Given the description of an element on the screen output the (x, y) to click on. 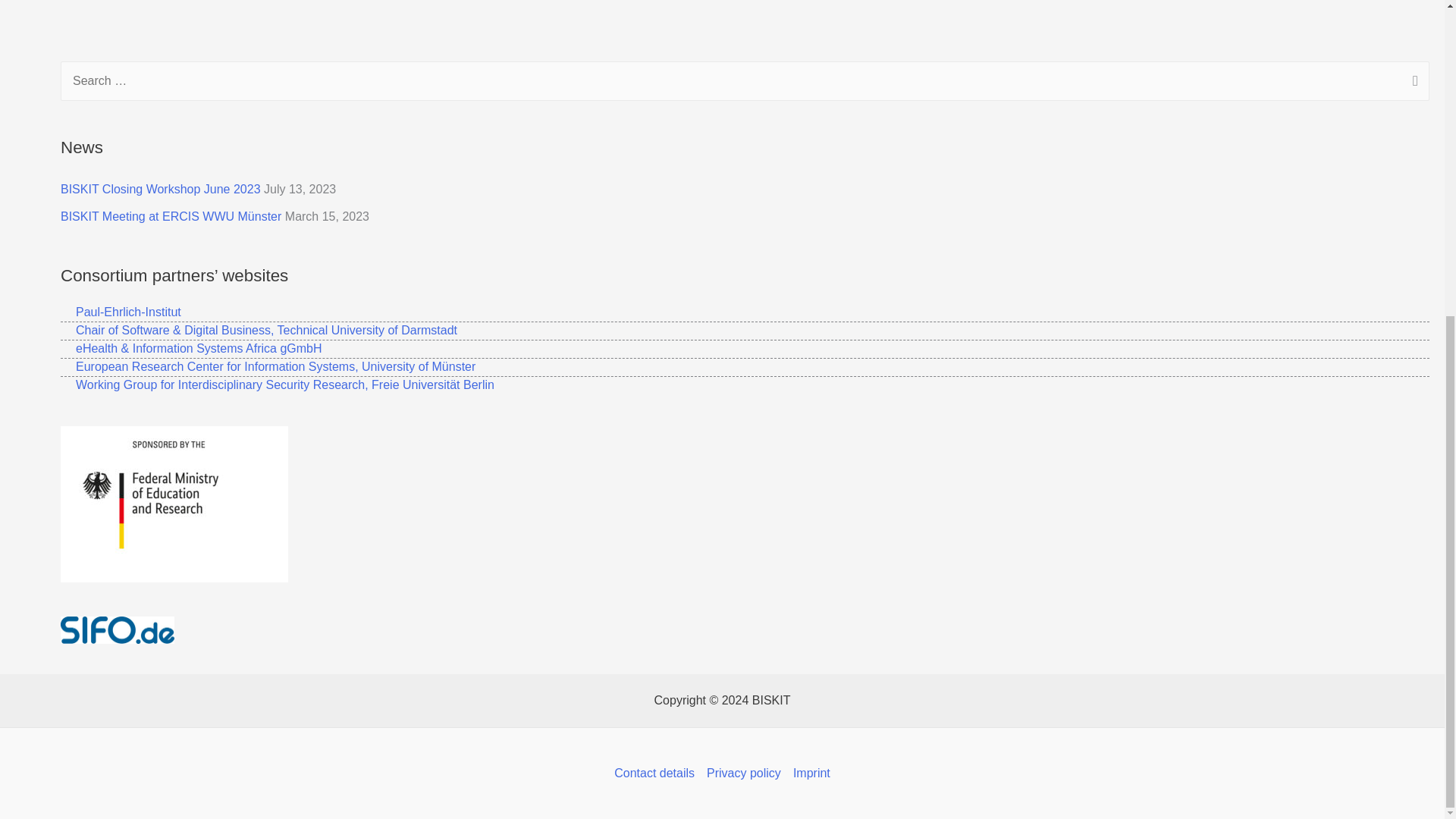
BISKIT Closing Workshop June 2023 (160, 188)
Paul-Ehrlich-Institut (120, 312)
Contact details (657, 773)
